Given the description of an element on the screen output the (x, y) to click on. 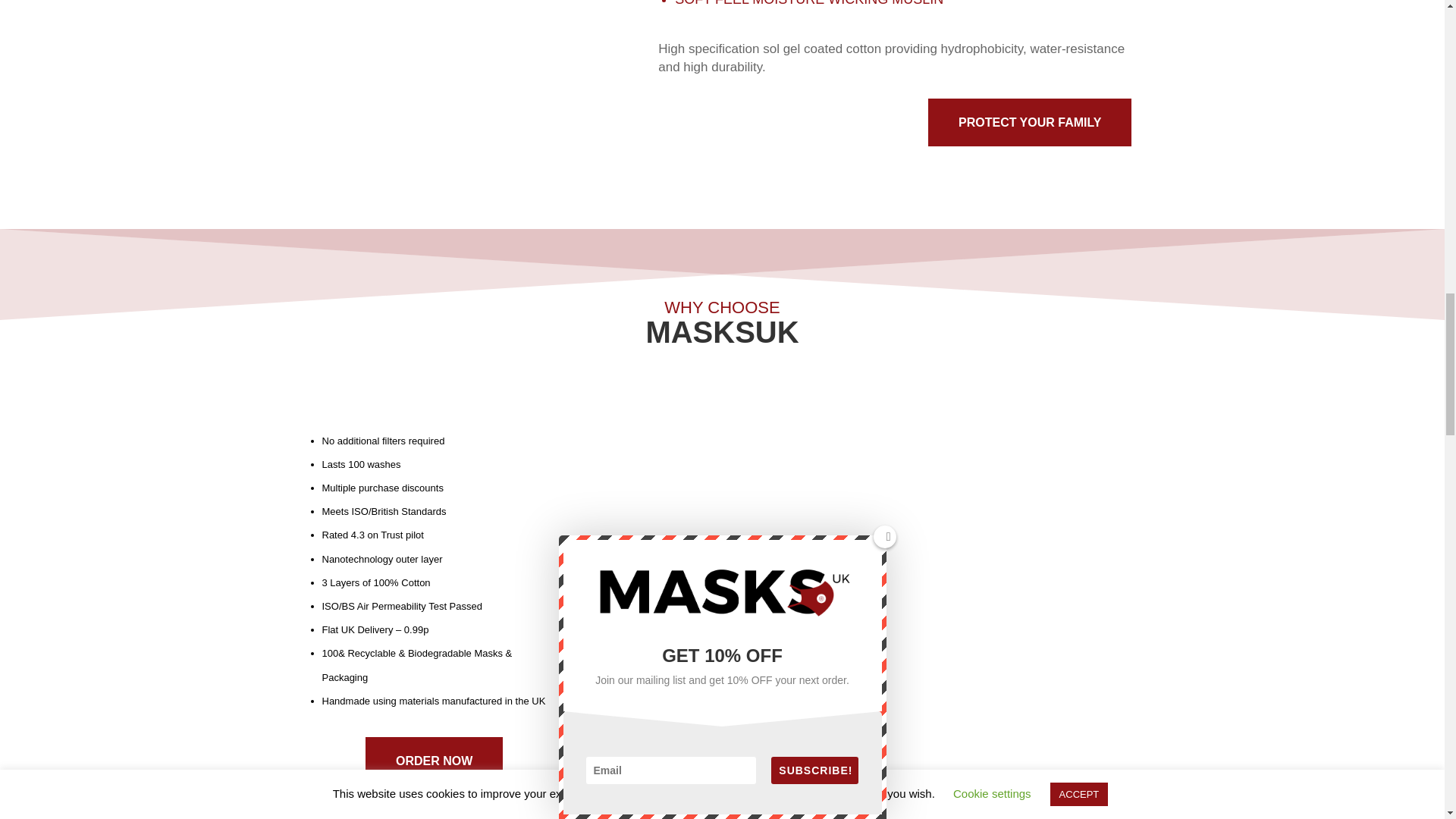
PROTECT YOUR FAMILY (1029, 122)
MasksUK Layer Technology (462, 79)
ORDER NOW (433, 760)
